Given the description of an element on the screen output the (x, y) to click on. 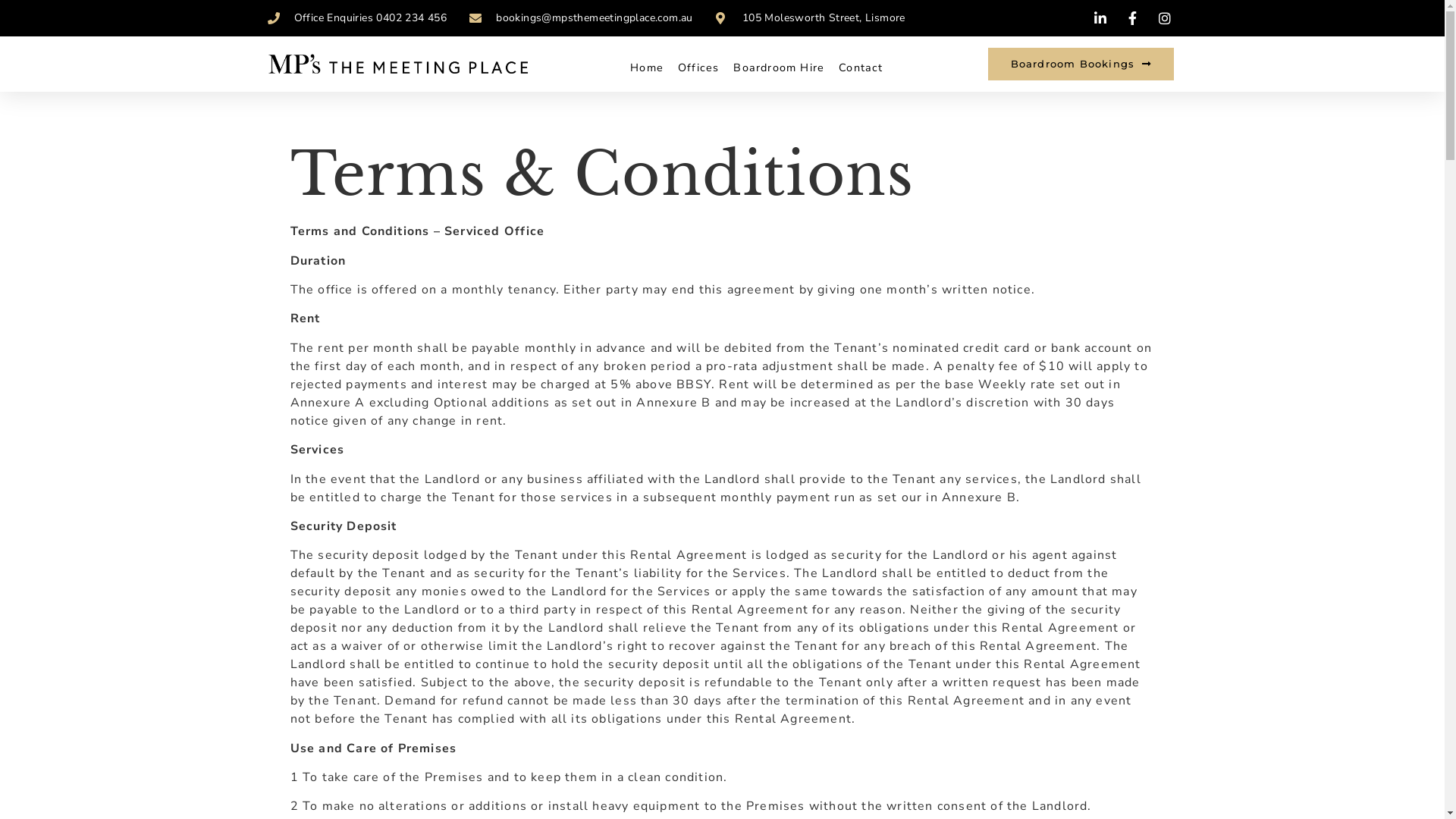
bookings@mpsthemeetingplace.com.au Element type: text (581, 18)
Boardroom Bookings Element type: text (1081, 63)
105 Molesworth Street, Lismore Element type: text (810, 18)
Offices Element type: text (697, 67)
Boardroom Hire Element type: text (778, 67)
Office Enquiries 0402 234 456 Element type: text (356, 18)
Home Element type: text (646, 67)
Contact Element type: text (860, 67)
